Given the description of an element on the screen output the (x, y) to click on. 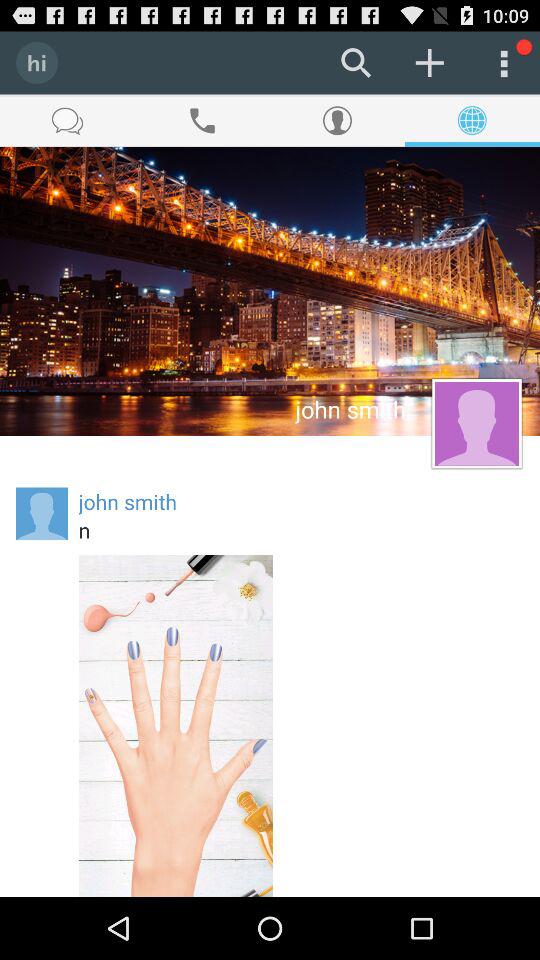
launch the app next to john smith item (41, 513)
